Given the description of an element on the screen output the (x, y) to click on. 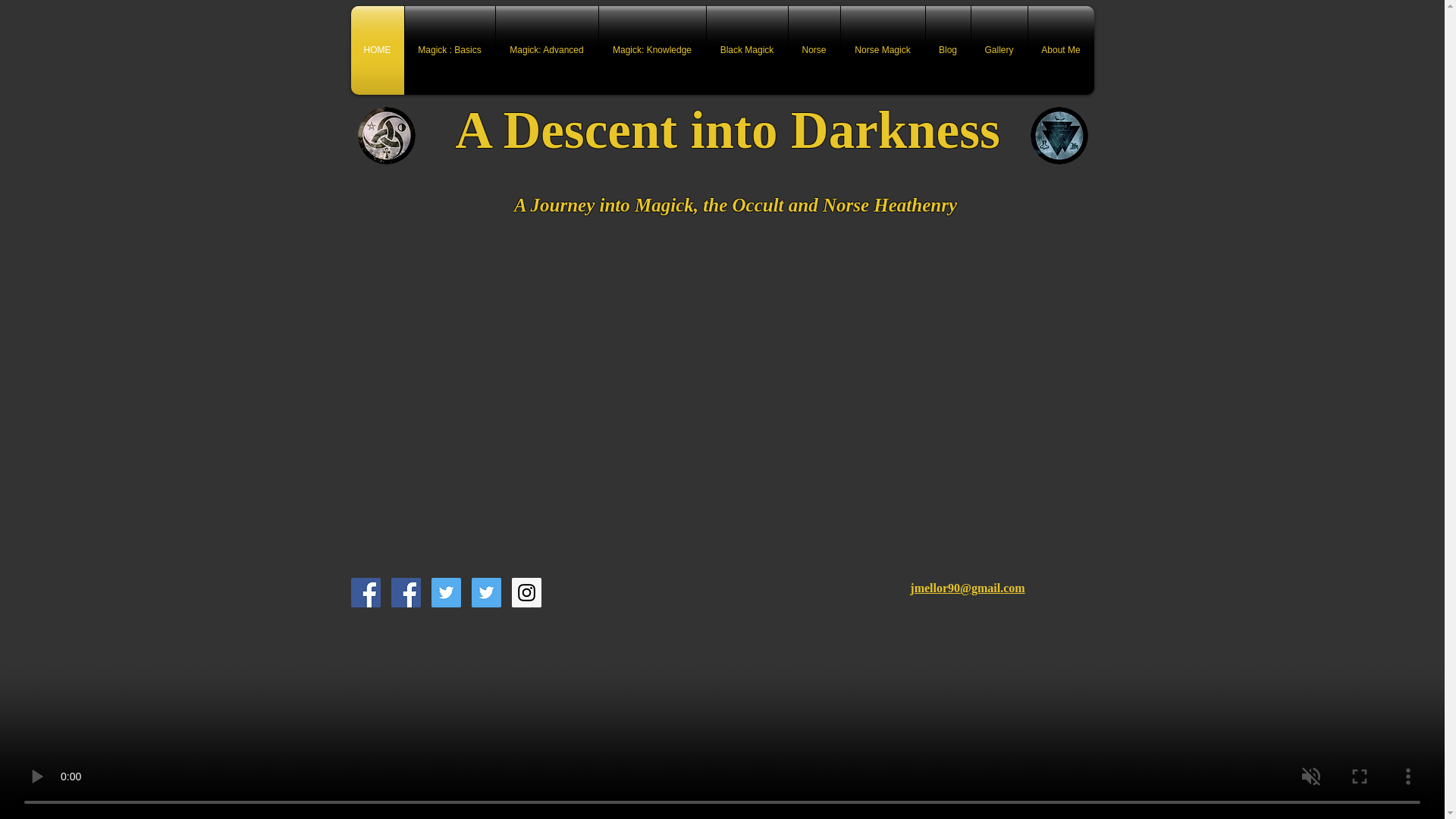
HOME (376, 50)
